Given the description of an element on the screen output the (x, y) to click on. 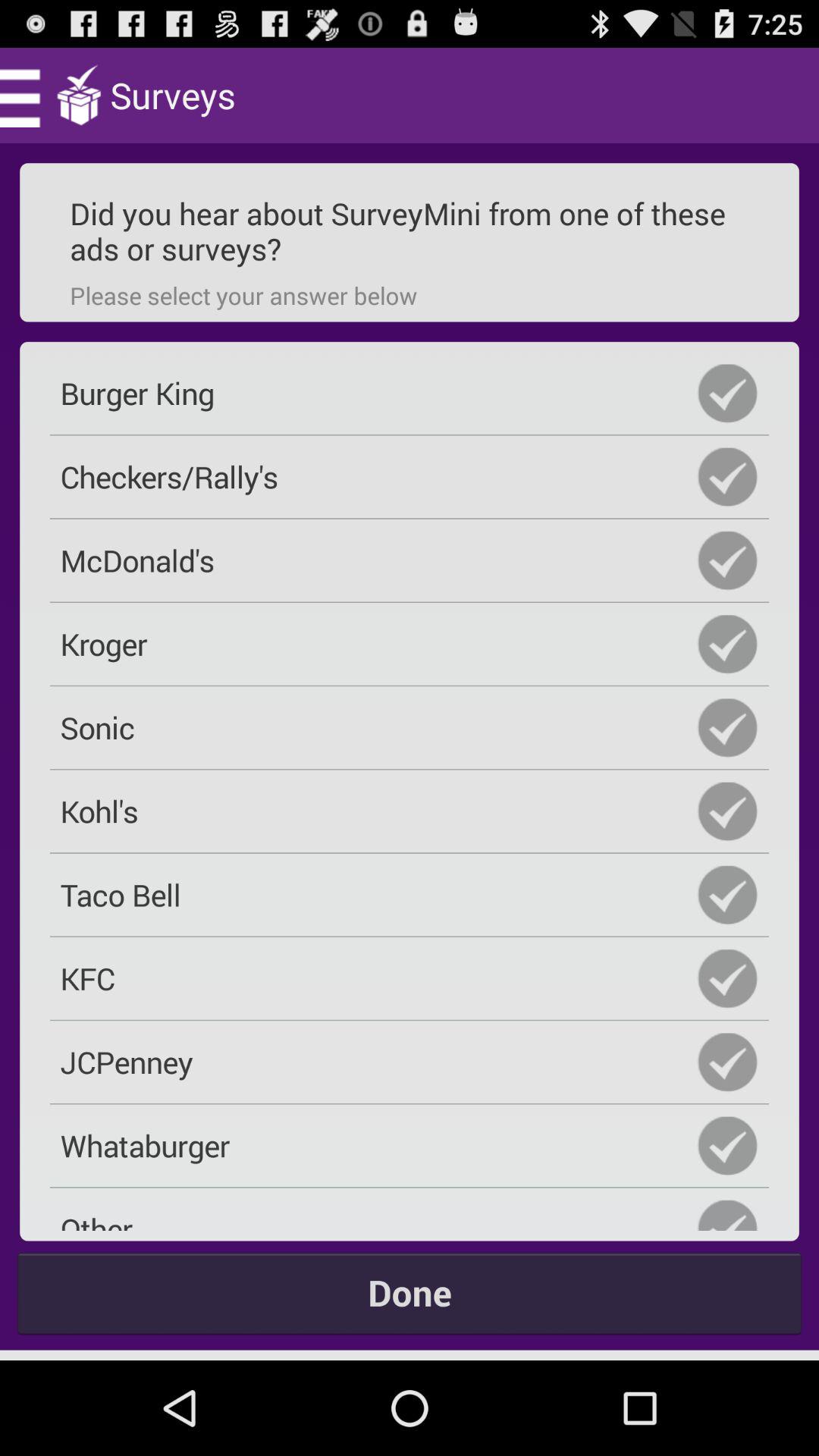
flip to whataburger icon (409, 1145)
